Given the description of an element on the screen output the (x, y) to click on. 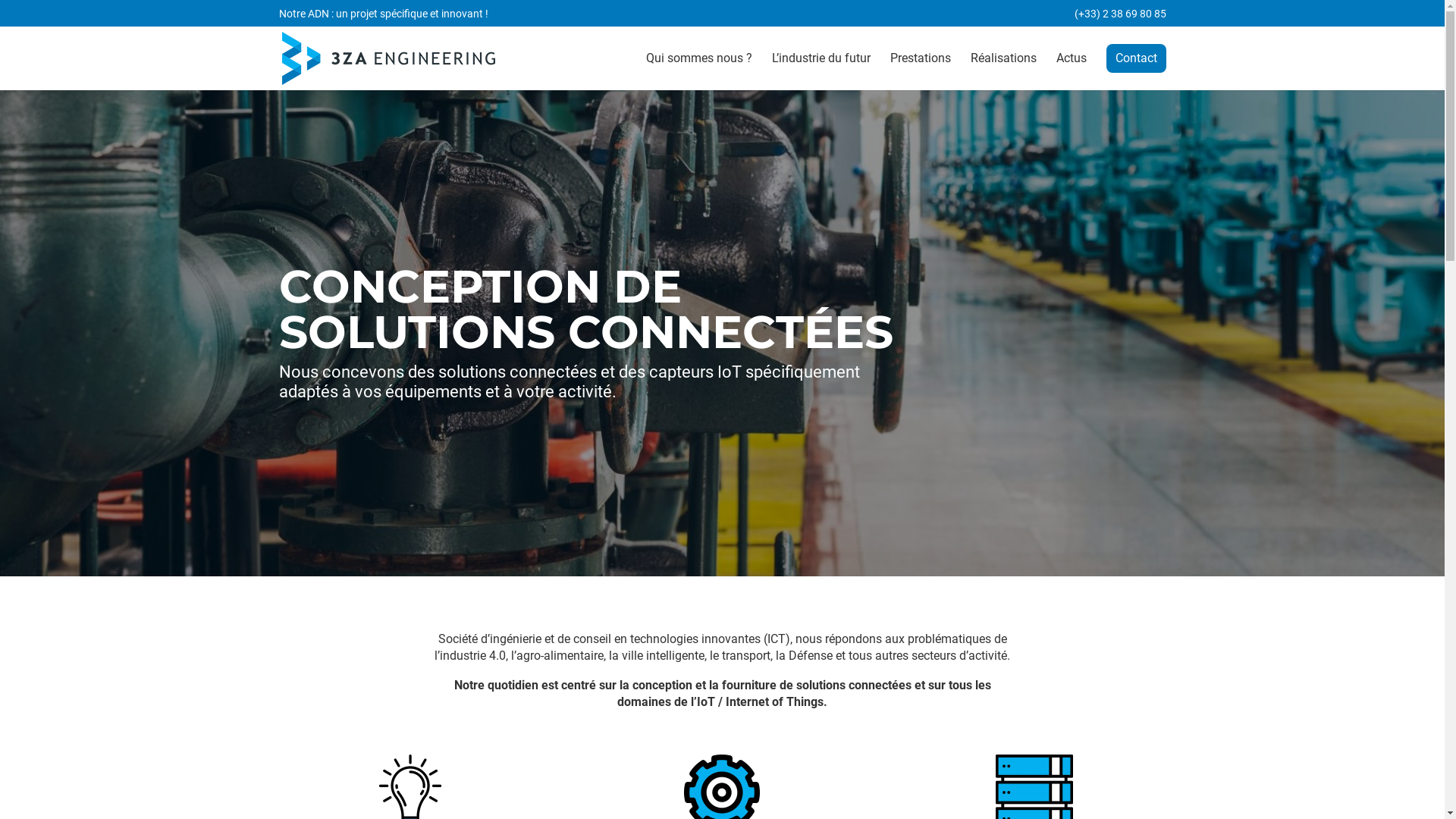
Contact Element type: text (1135, 57)
(+33) 2 38 69 80 85 Element type: text (1119, 16)
Prestations Element type: text (920, 71)
Actus Element type: text (1070, 71)
Qui sommes nous ? Element type: text (699, 71)
